Given the description of an element on the screen output the (x, y) to click on. 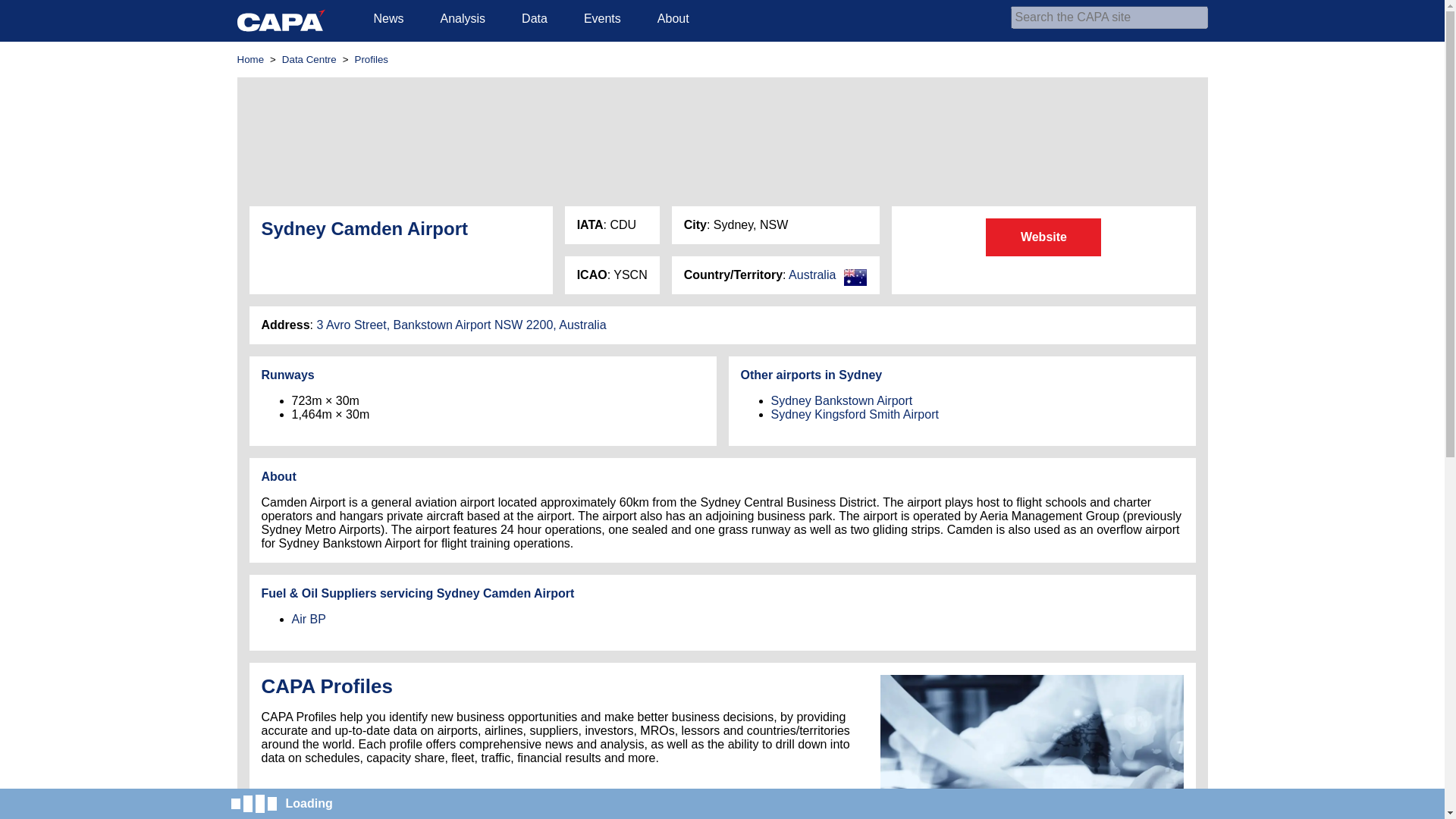
Website (1042, 237)
Data (534, 18)
Visit Sydney Camden Airport website (1042, 237)
Profiles (371, 59)
Data Centre (309, 59)
Analysis (462, 18)
Air BP (307, 618)
CAPA - Centre for Aviation (279, 20)
Events (602, 18)
About (673, 18)
